Given the description of an element on the screen output the (x, y) to click on. 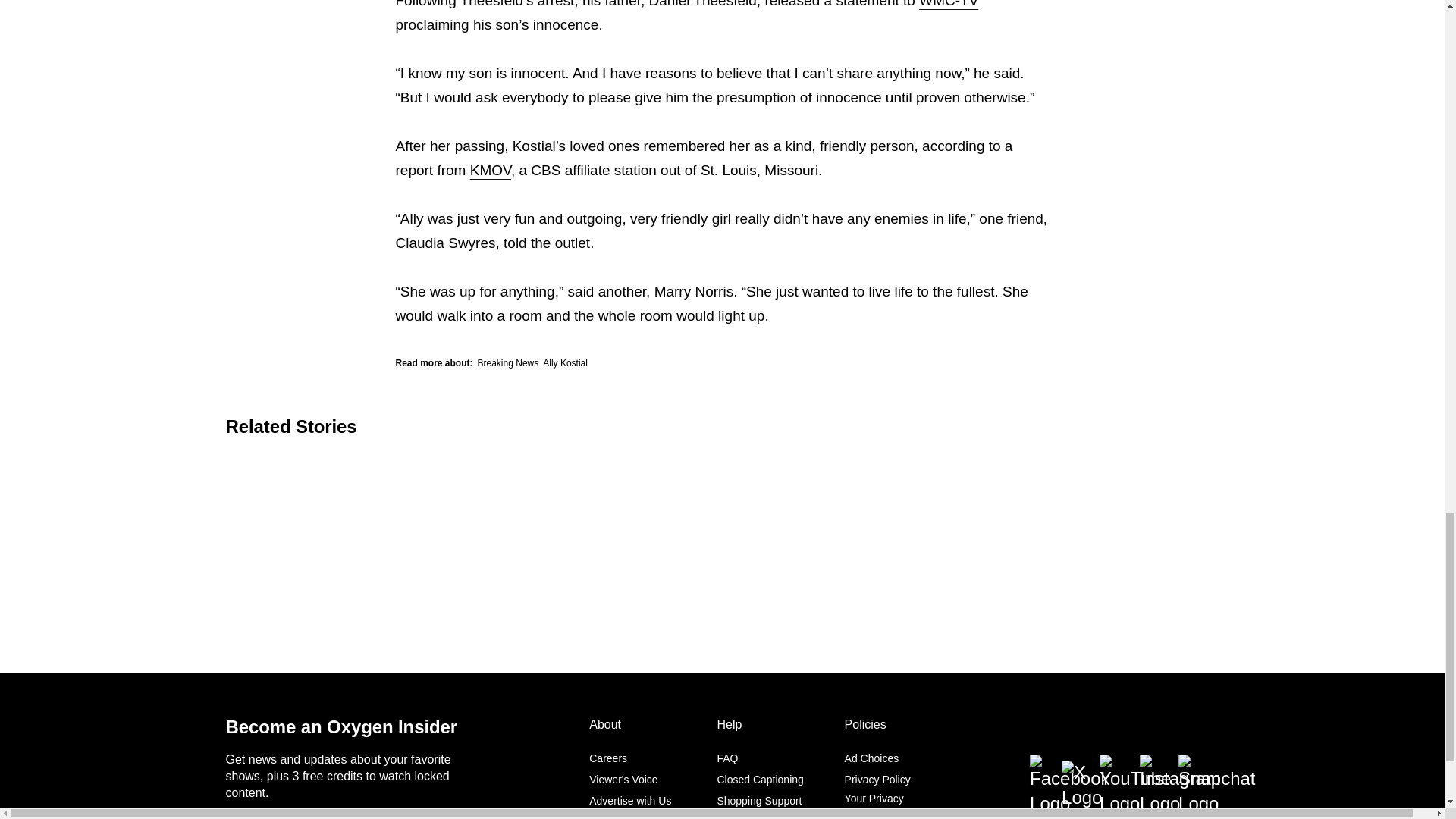
Breaking News (507, 362)
Advertise with Us (630, 800)
KMOV (490, 170)
Ally Kostial (565, 362)
WMC-TV (948, 4)
